Given the description of an element on the screen output the (x, y) to click on. 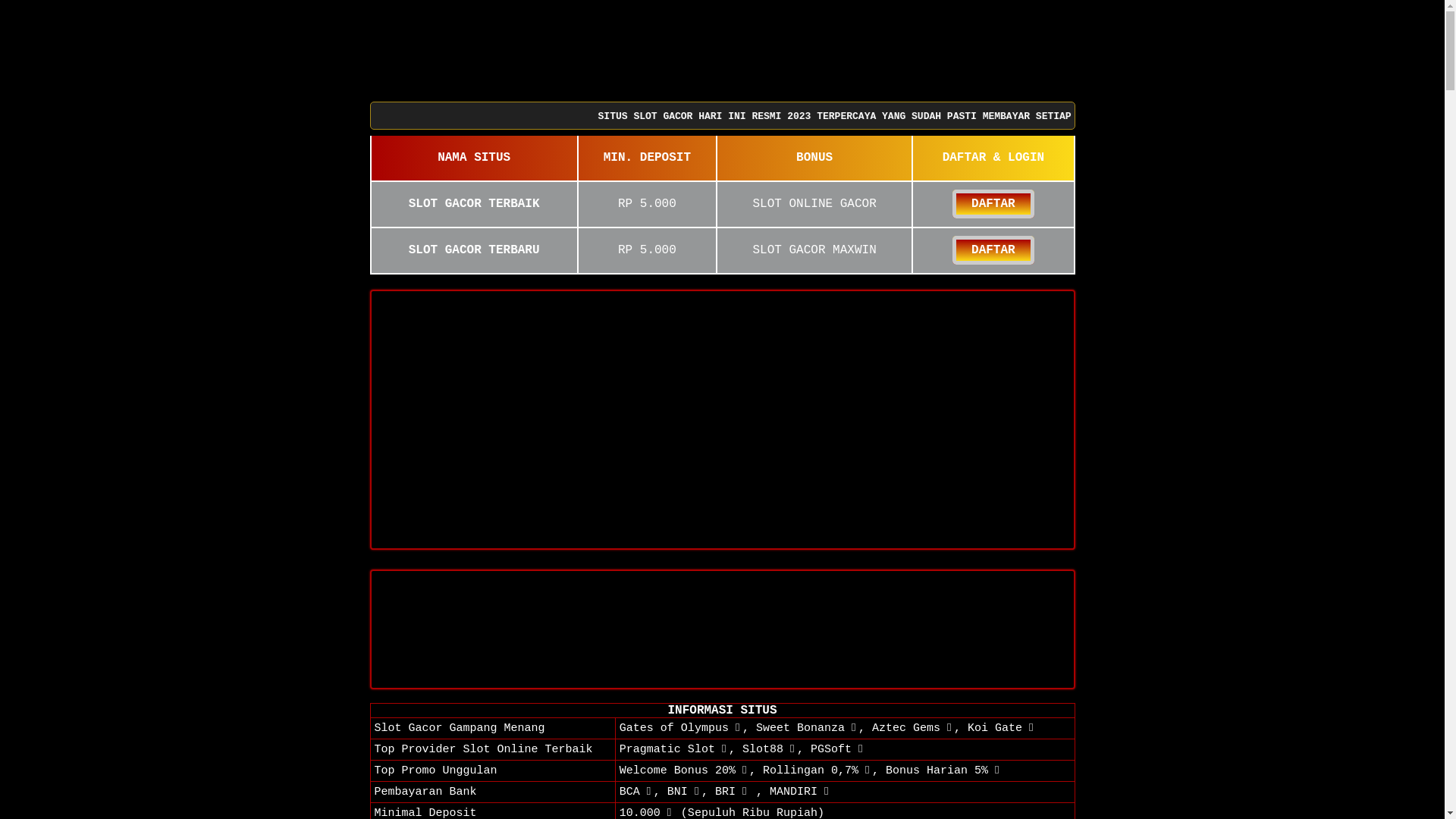
Daftar Slot Gacor 2023 Element type: hover (722, 420)
Situs Slot Gacor 2023 Terpercaya Element type: hover (722, 629)
DAFTAR Element type: text (993, 203)
DAFTAR Element type: text (993, 249)
